Given the description of an element on the screen output the (x, y) to click on. 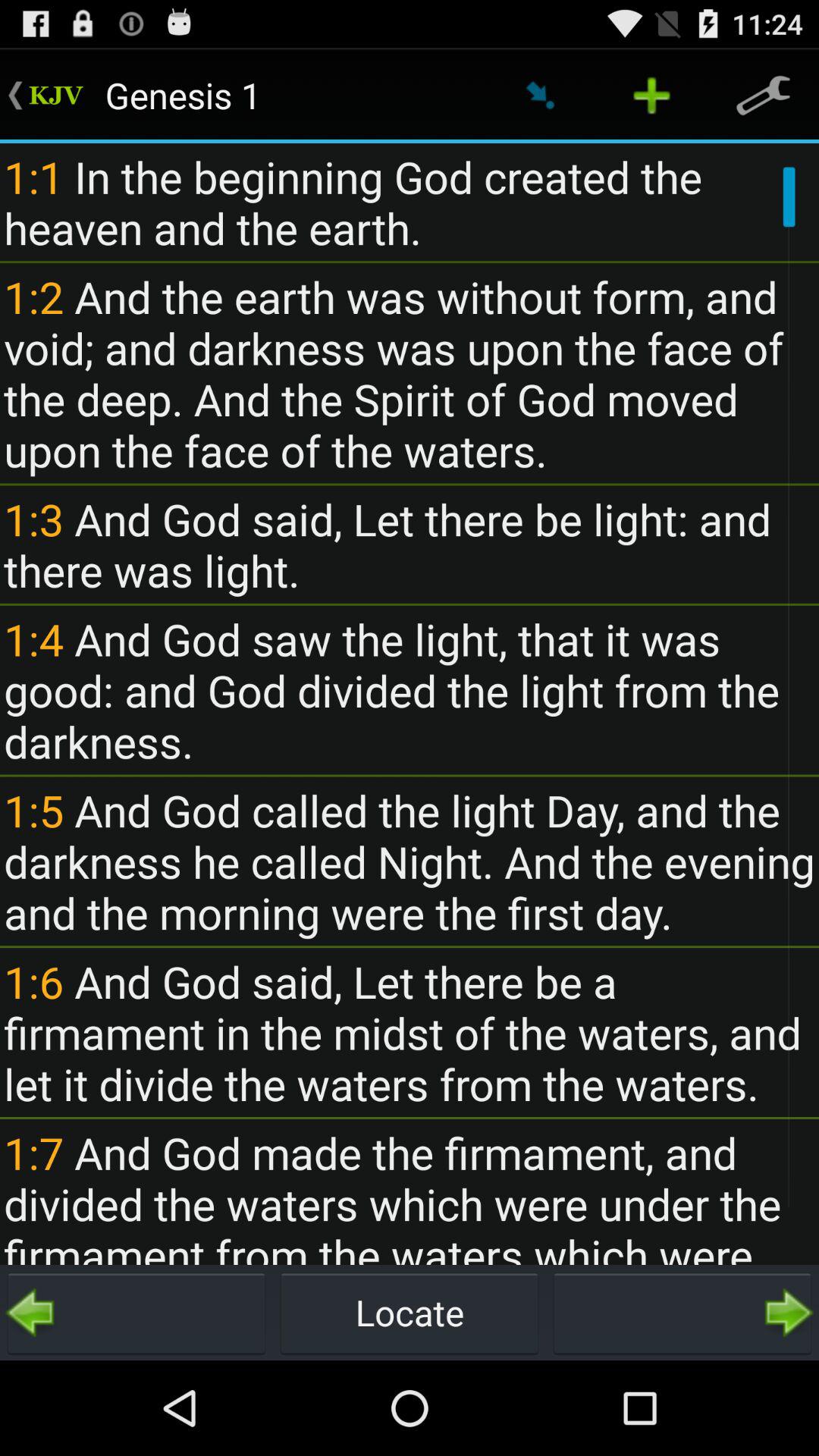
go back (136, 1312)
